Given the description of an element on the screen output the (x, y) to click on. 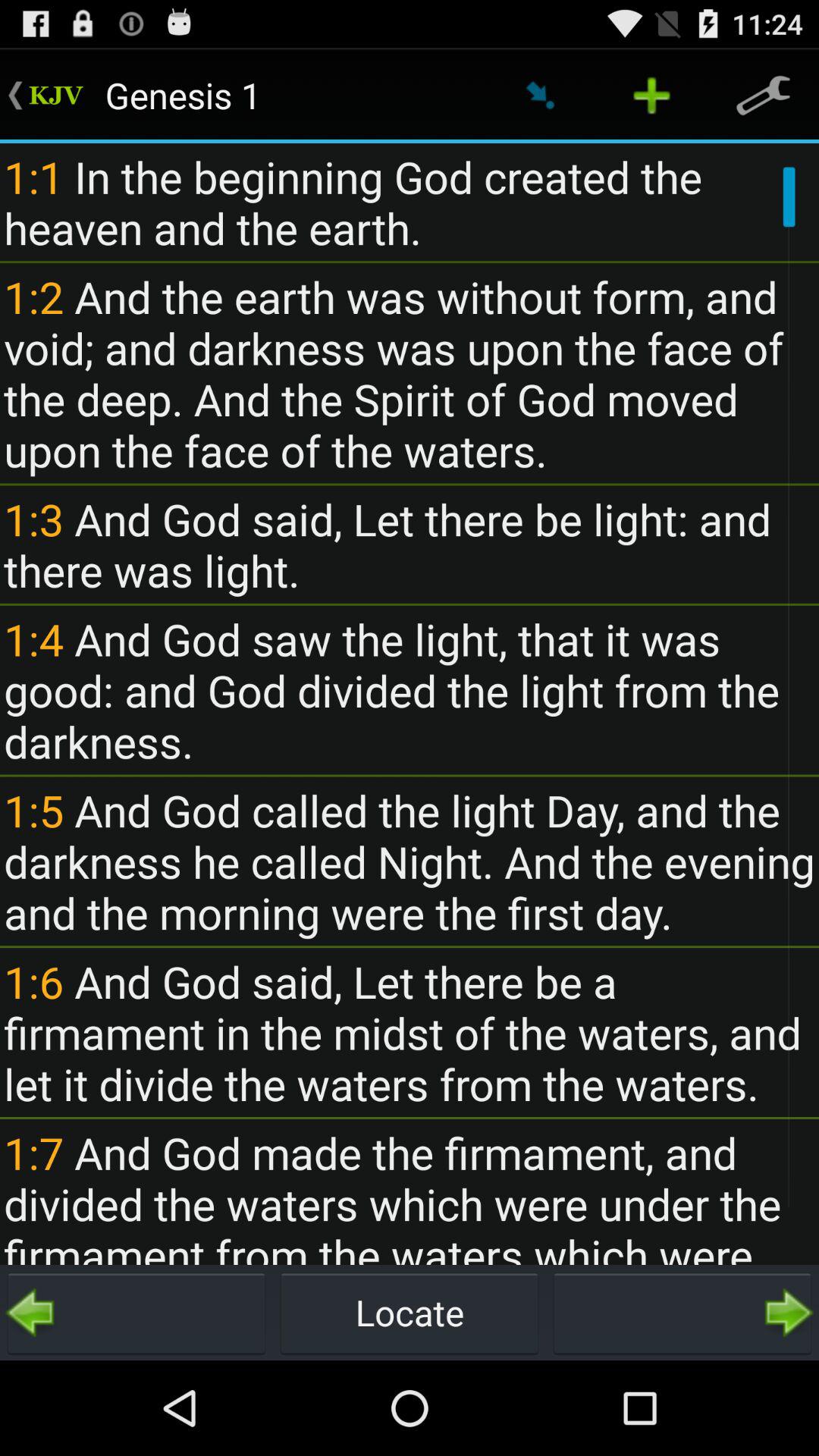
go back (136, 1312)
